Given the description of an element on the screen output the (x, y) to click on. 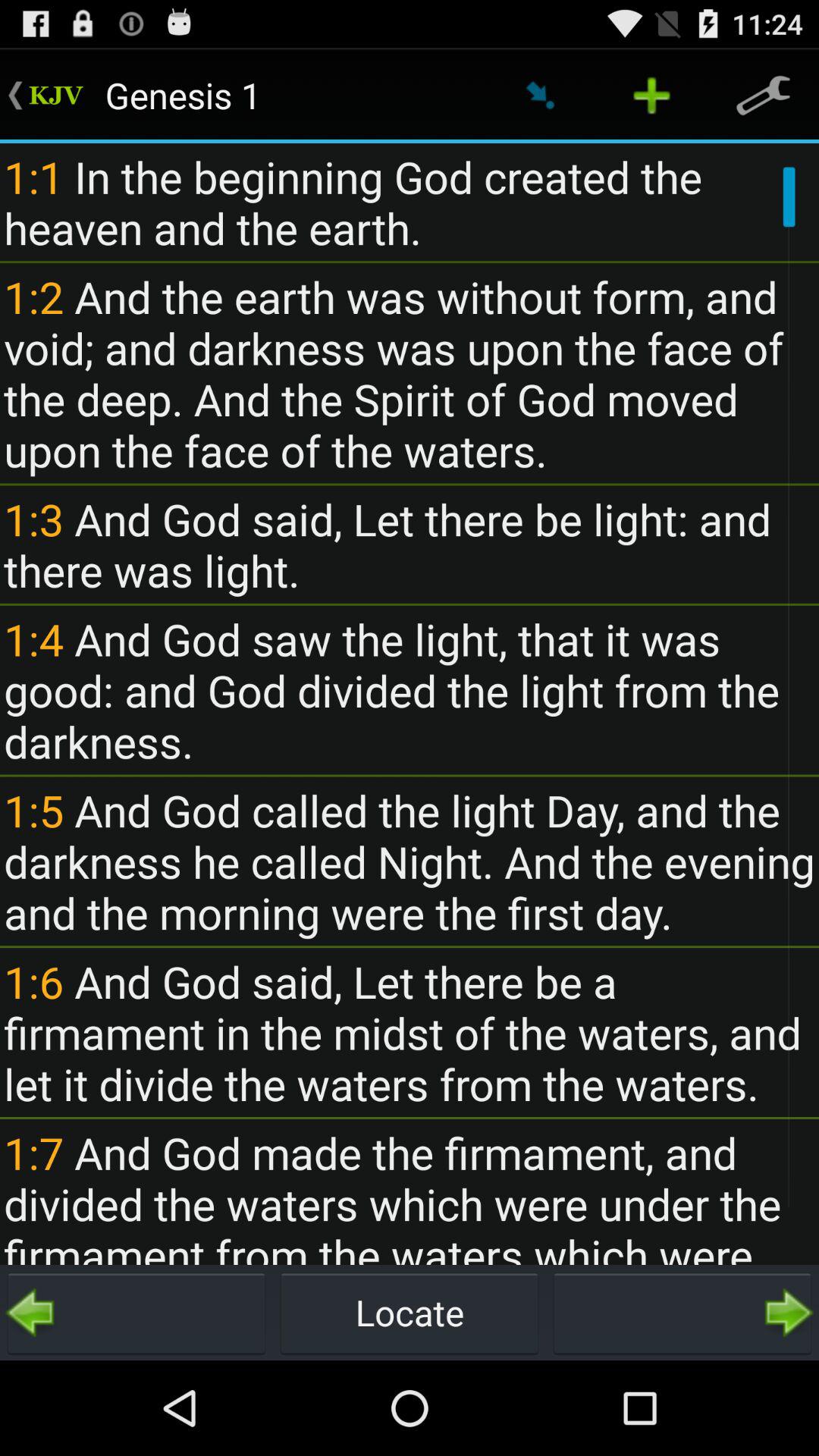
go back (136, 1312)
